Given the description of an element on the screen output the (x, y) to click on. 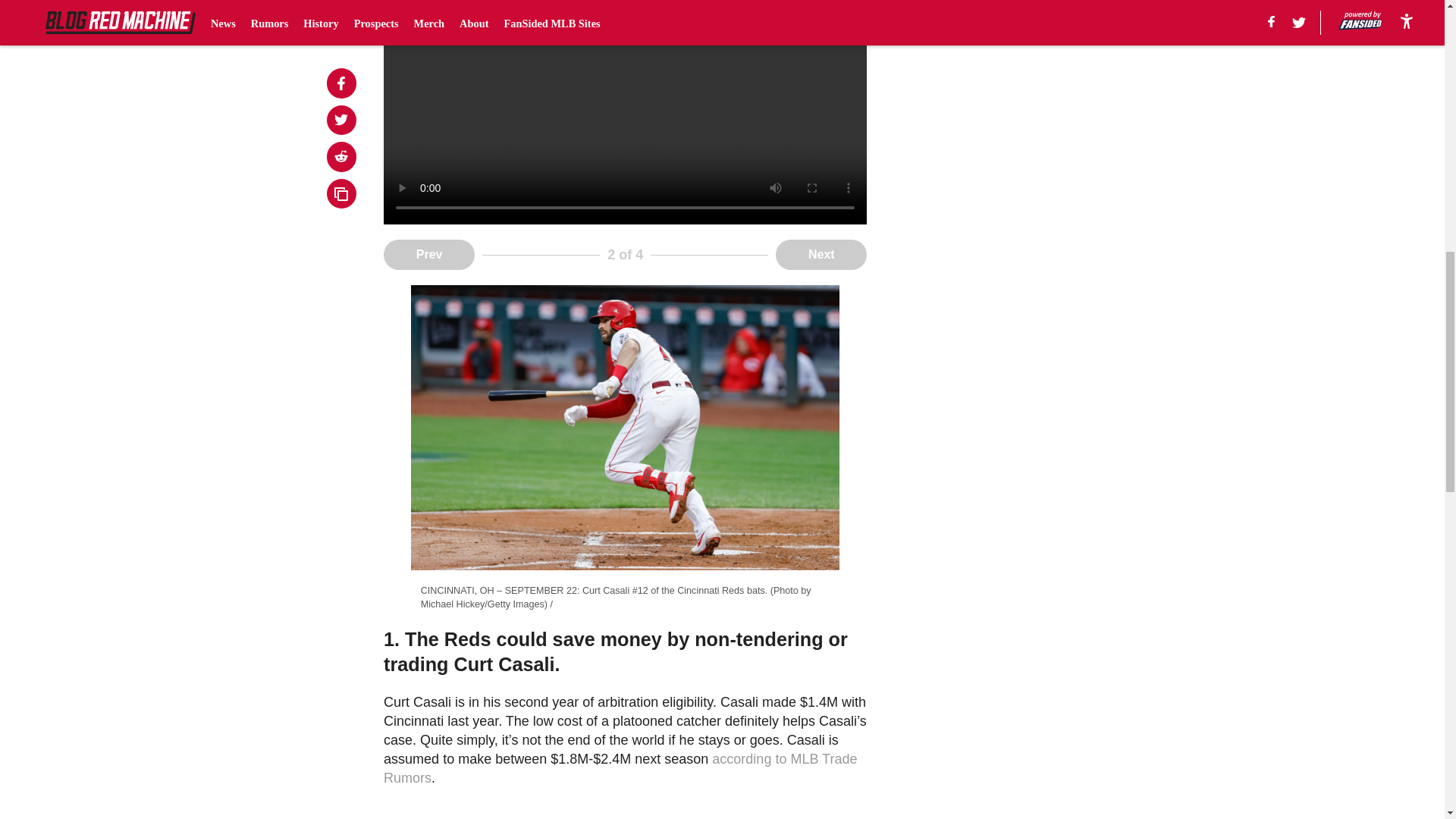
3rd party ad content (1005, 71)
Prev (429, 254)
Next (821, 254)
according to MLB Trade Rumors (620, 768)
3rd party ad content (1005, 267)
